Given the description of an element on the screen output the (x, y) to click on. 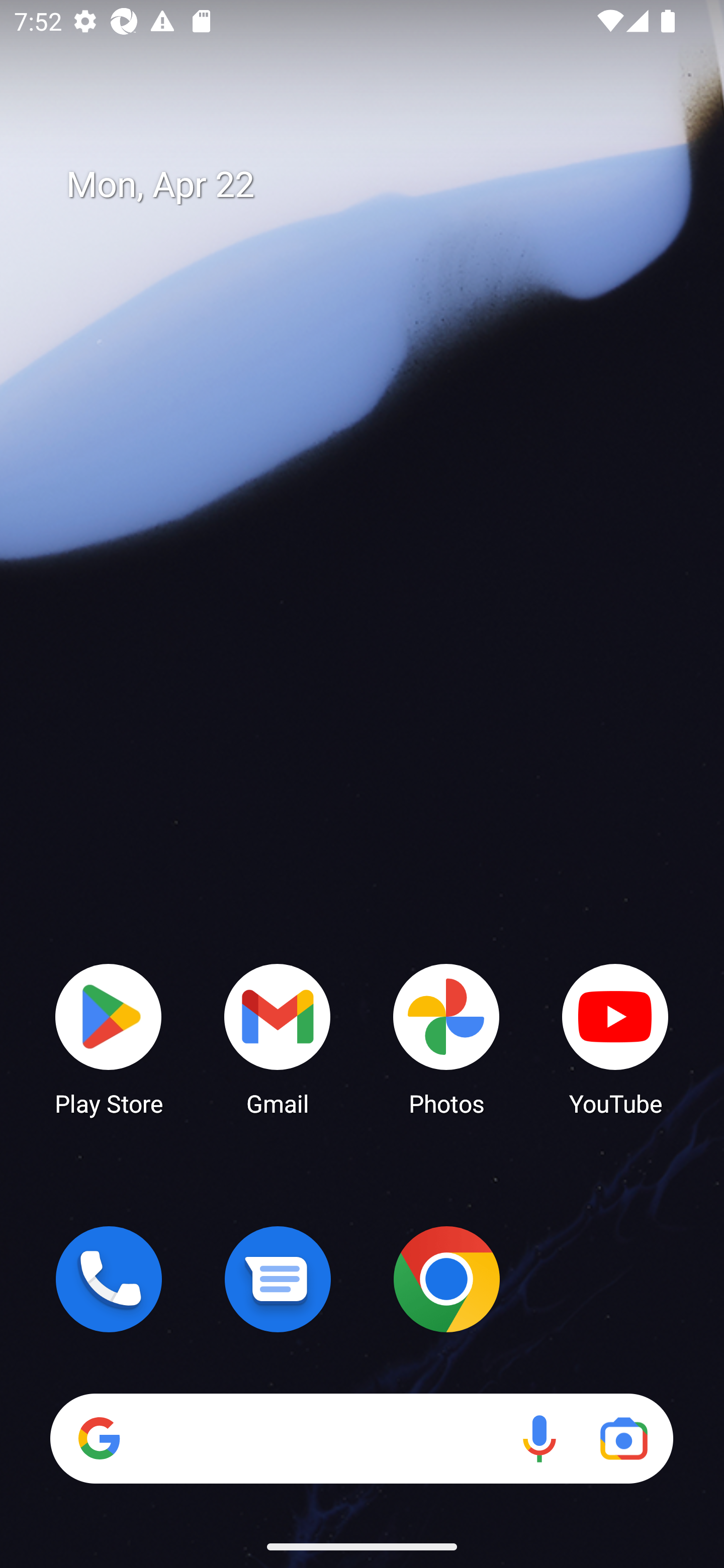
Mon, Apr 22 (375, 184)
Play Store (108, 1038)
Gmail (277, 1038)
Photos (445, 1038)
YouTube (615, 1038)
Phone (108, 1279)
Messages (277, 1279)
Chrome (446, 1279)
Search Voice search Google Lens (361, 1438)
Voice search (539, 1438)
Google Lens (623, 1438)
